Given the description of an element on the screen output the (x, y) to click on. 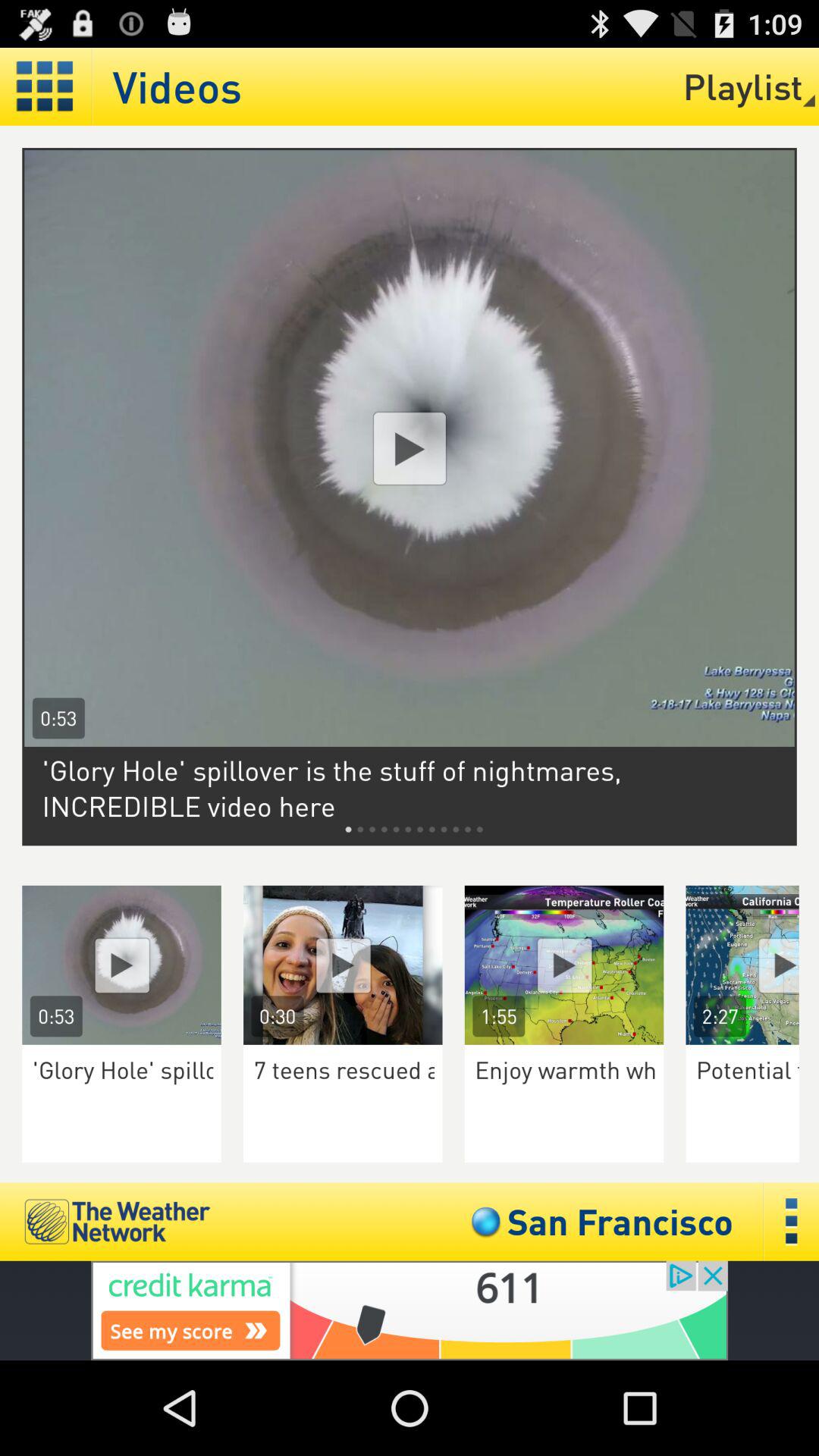
play video (342, 964)
